Given the description of an element on the screen output the (x, y) to click on. 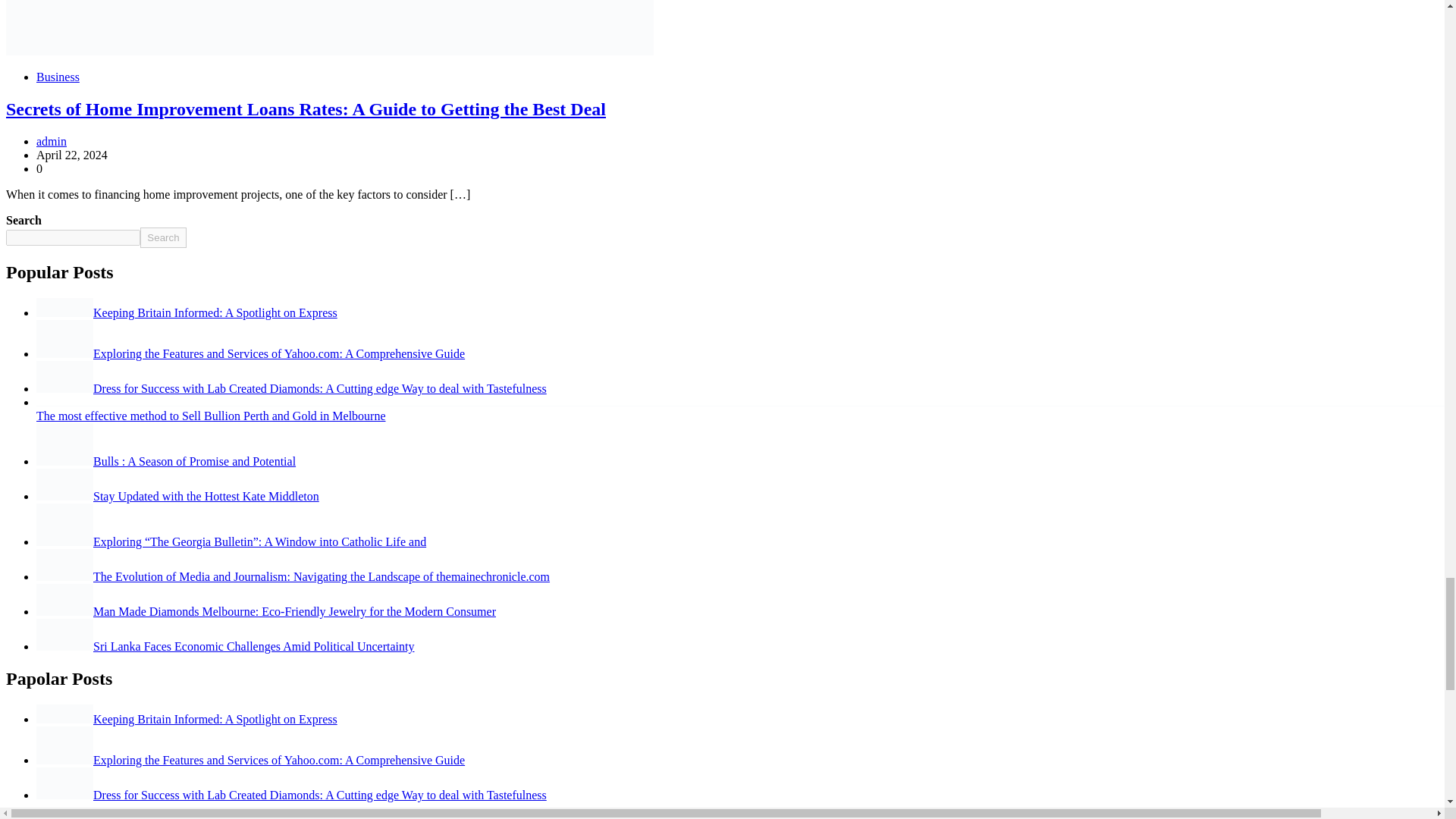
Keeping Britain Informed: A Spotlight on Express (186, 312)
Business (58, 76)
Bulls : A Season of Promise and Potential (165, 461)
lab created diamonds (64, 783)
Search (162, 237)
lab created diamonds (64, 377)
Keeping Britain Informed: A Spotlight on Express (186, 718)
Stay Updated with the Hottest Kate Middleton (177, 495)
admin (51, 141)
